Given the description of an element on the screen output the (x, y) to click on. 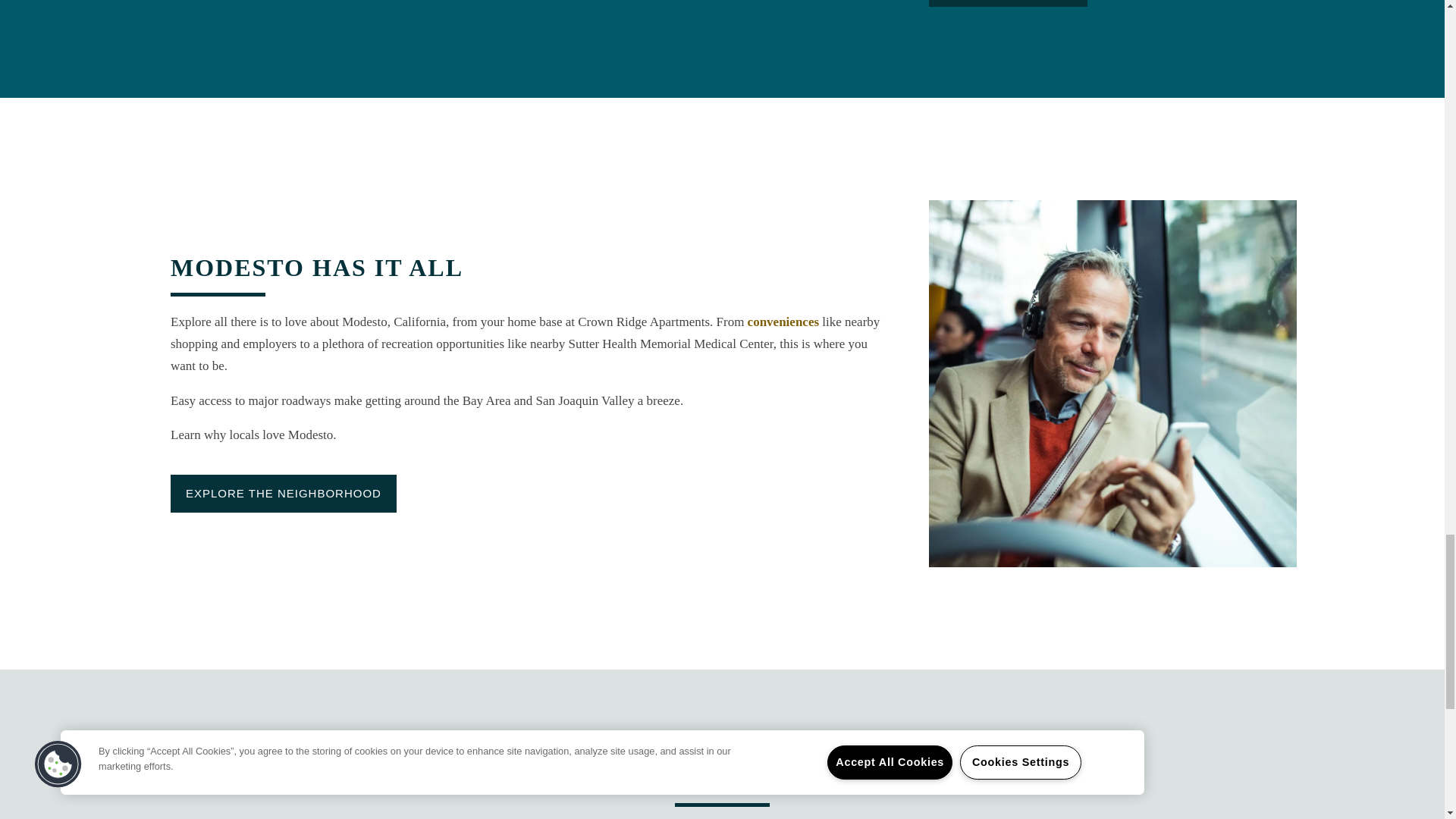
conveniences (783, 321)
SEE OUR AMENITIES (1007, 2)
EXPLORE THE NEIGHBORHOOD (283, 493)
